Given the description of an element on the screen output the (x, y) to click on. 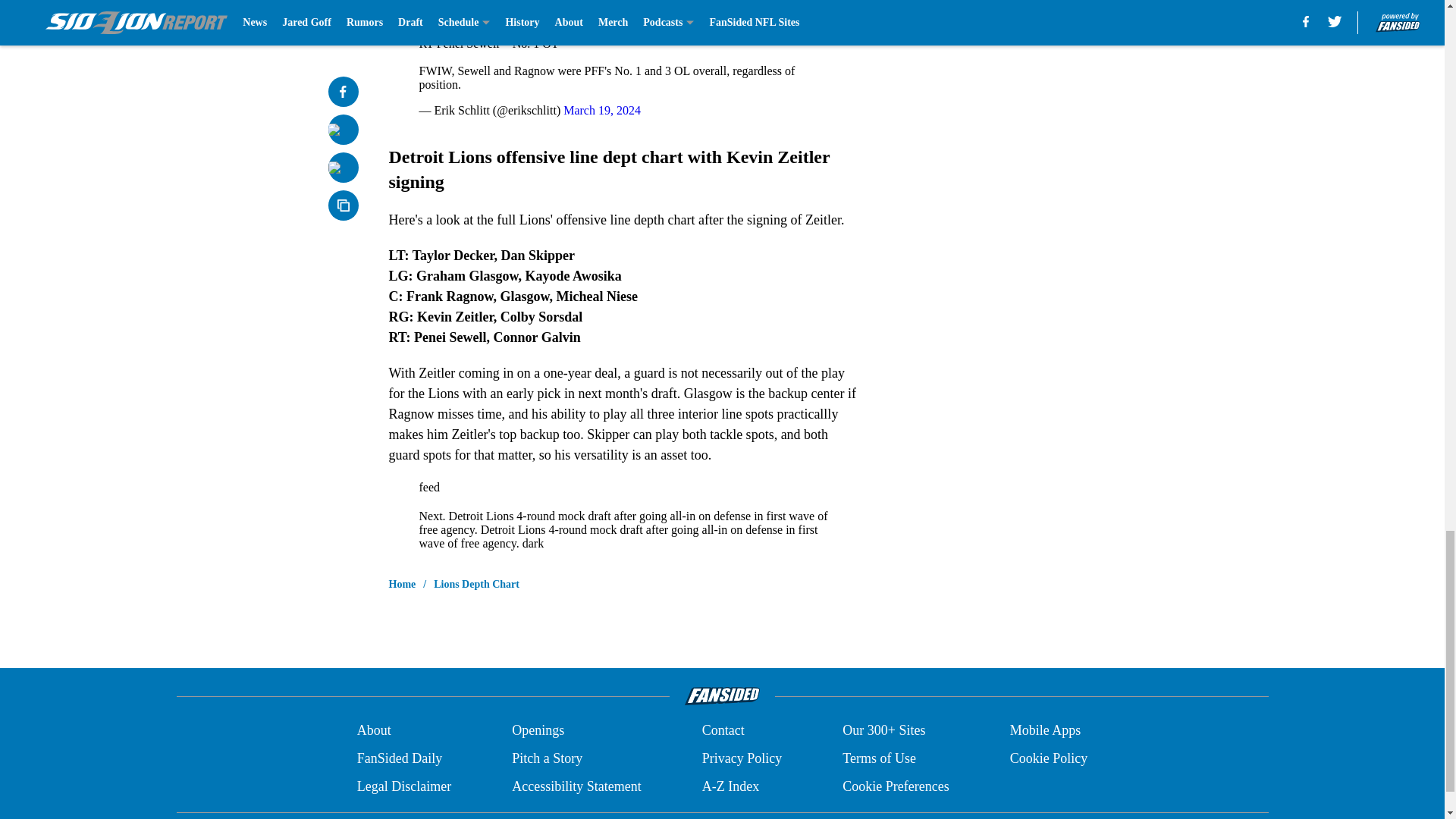
Mobile Apps (1045, 730)
Openings (538, 730)
Terms of Use (879, 758)
Contact (722, 730)
March 19, 2024 (601, 110)
Home (401, 584)
FanSided Daily (399, 758)
Cookie Policy (1048, 758)
Legal Disclaimer (403, 786)
A-Z Index (729, 786)
